Given the description of an element on the screen output the (x, y) to click on. 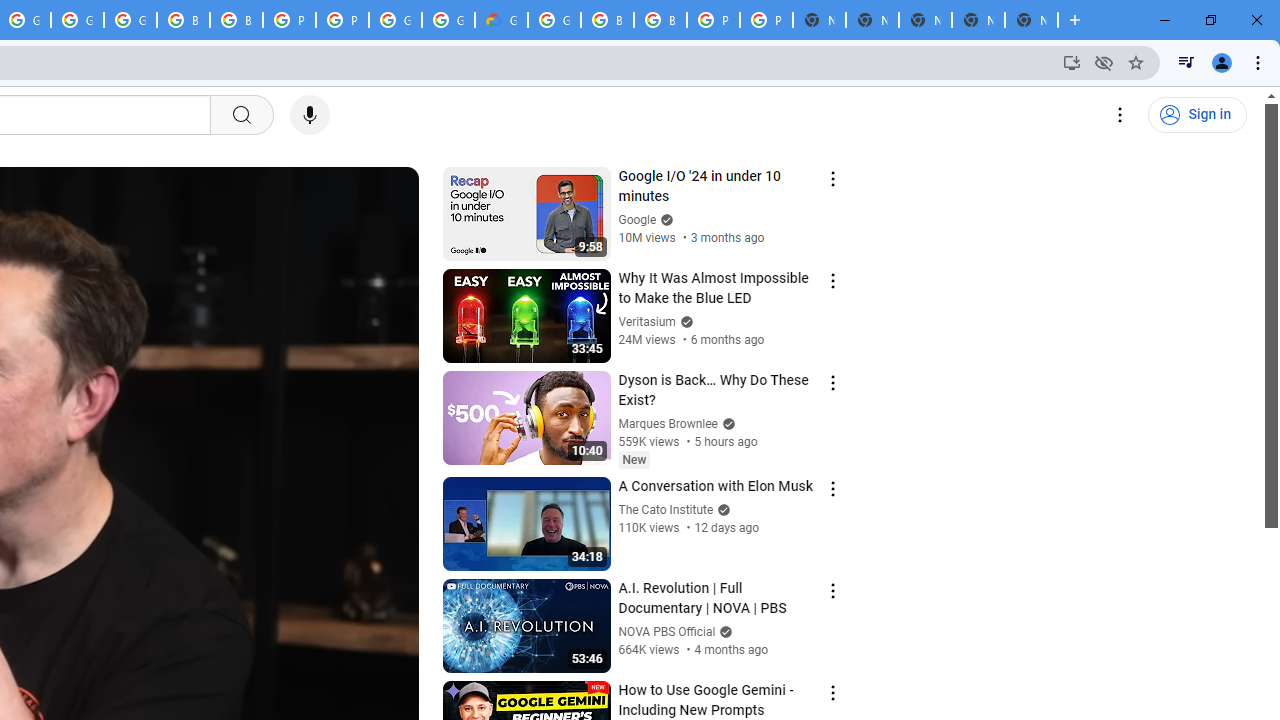
Verified (724, 631)
Browse Chrome as a guest - Computer - Google Chrome Help (607, 20)
New Tab (1031, 20)
